Given the description of an element on the screen output the (x, y) to click on. 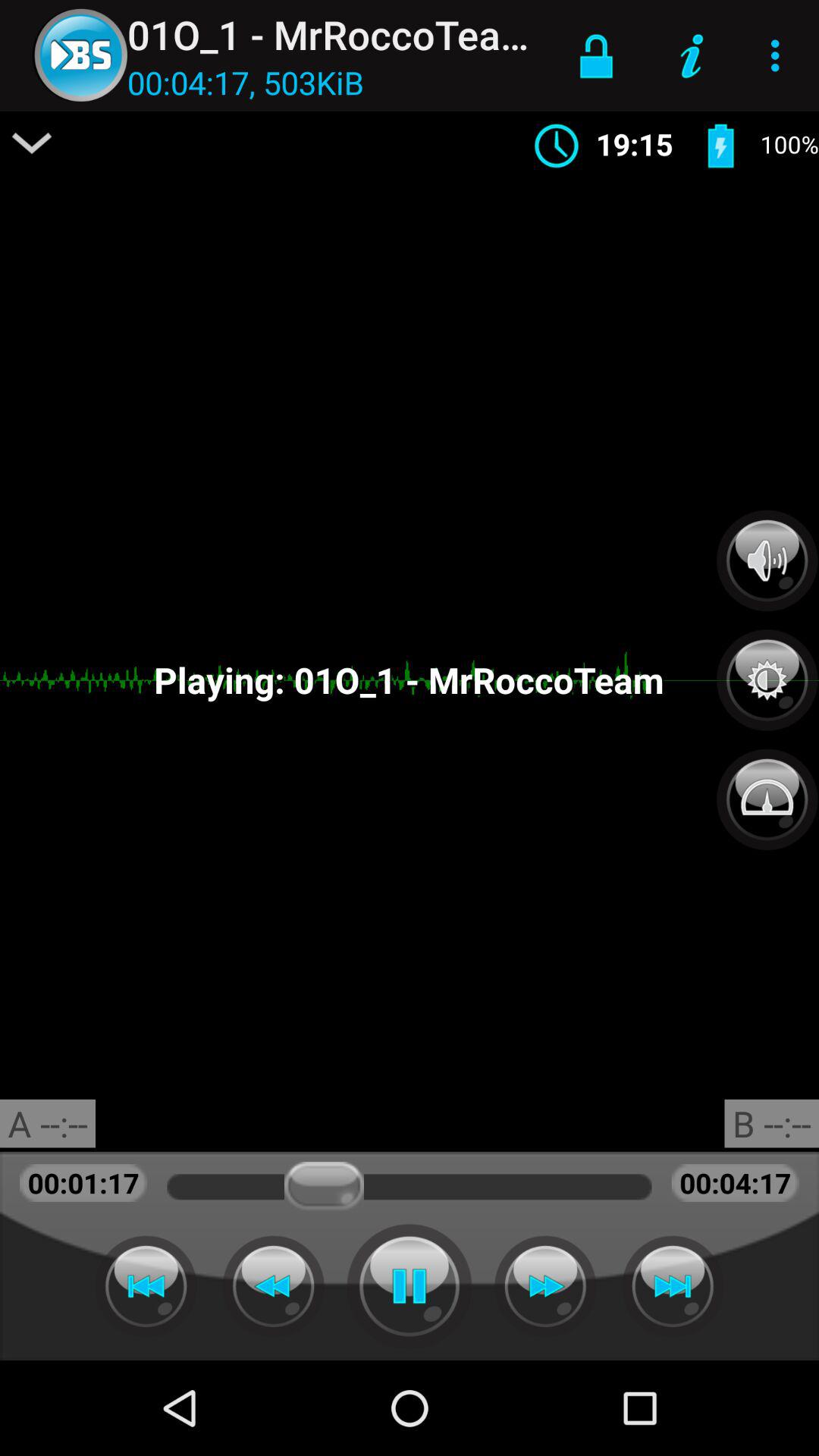
pause the player (409, 1286)
